Given the description of an element on the screen output the (x, y) to click on. 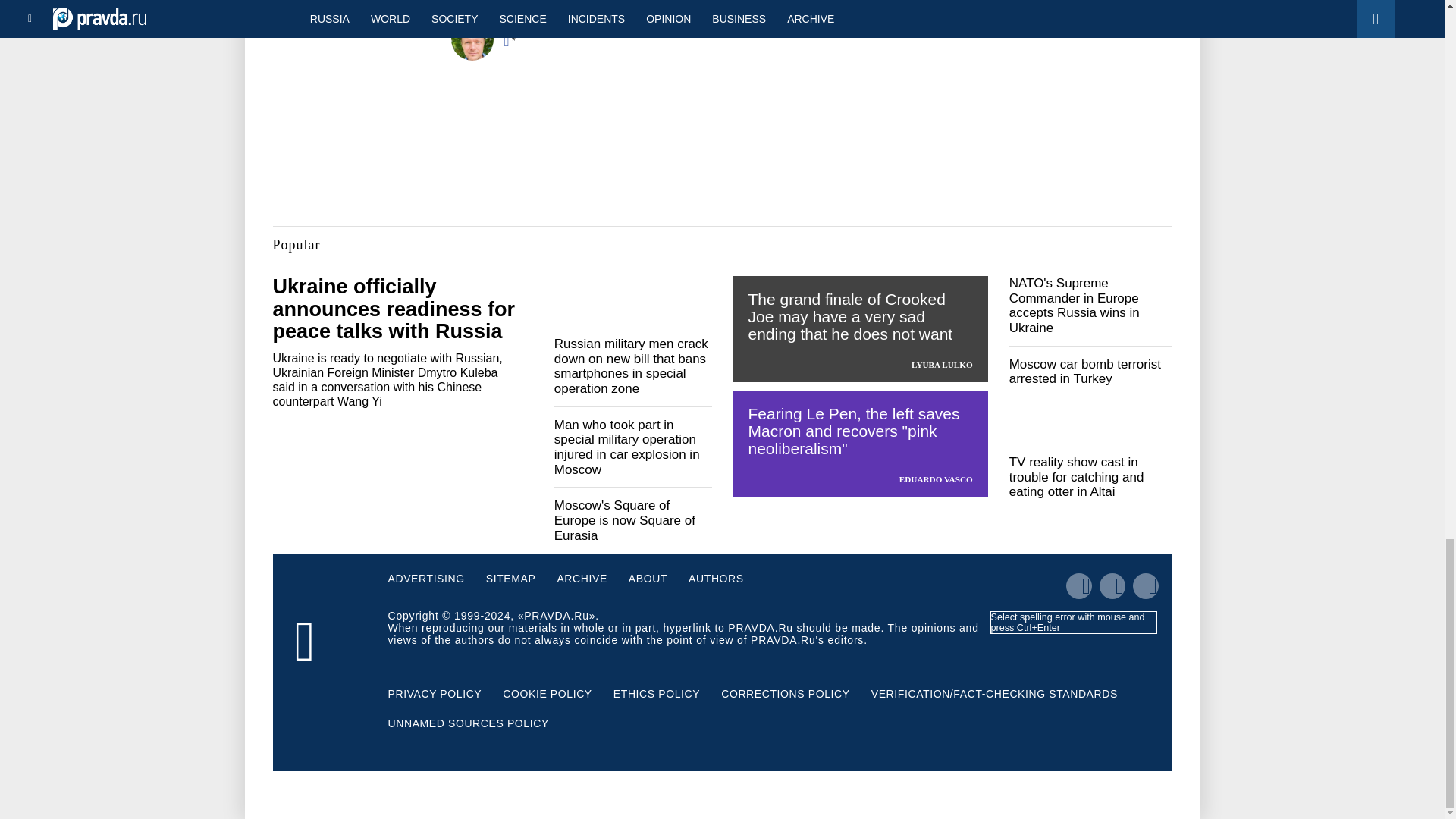
Dmitry Sudakov (567, 23)
